Given the description of an element on the screen output the (x, y) to click on. 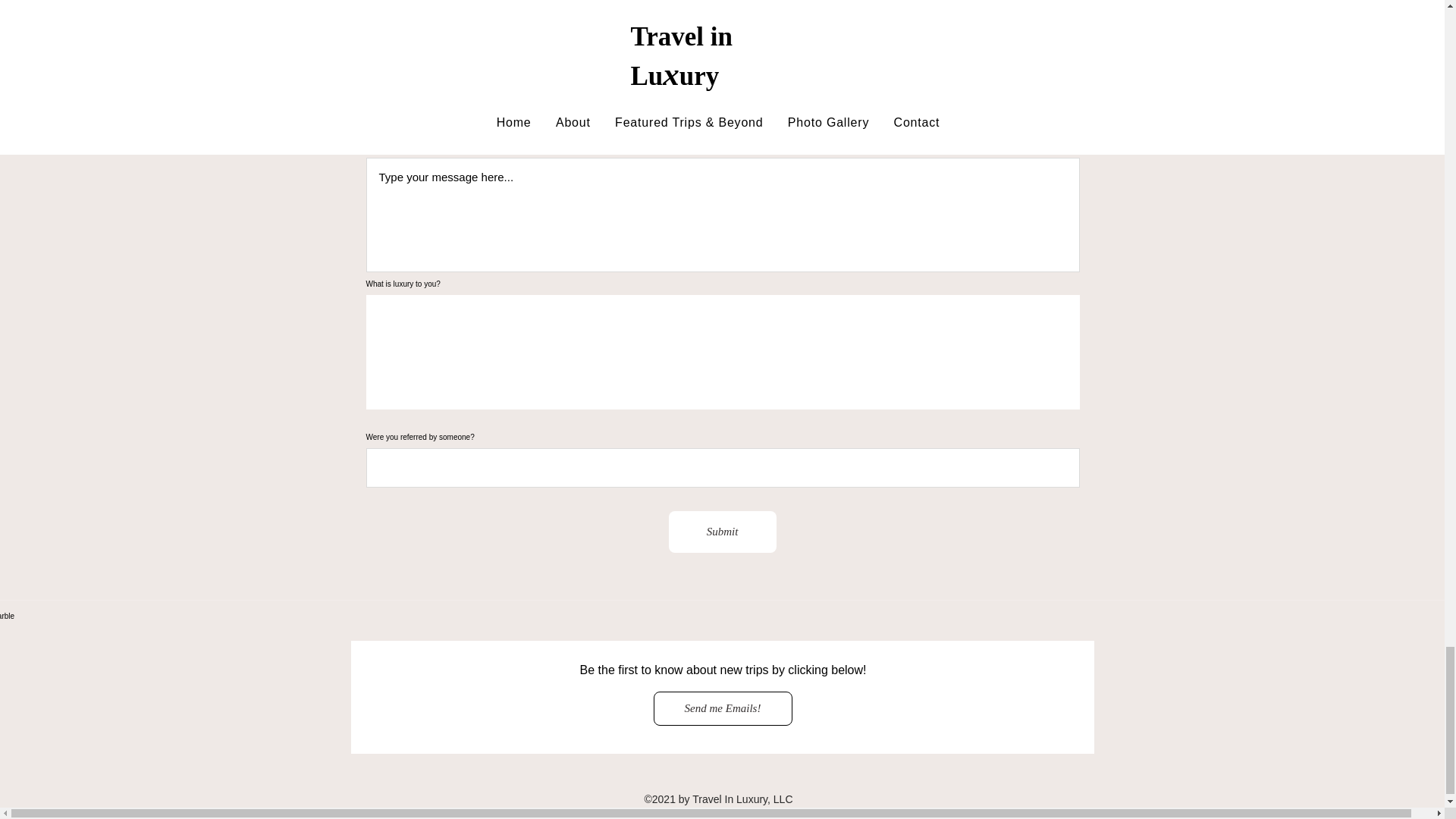
Send me Emails! (722, 708)
Submit (722, 531)
